Given the description of an element on the screen output the (x, y) to click on. 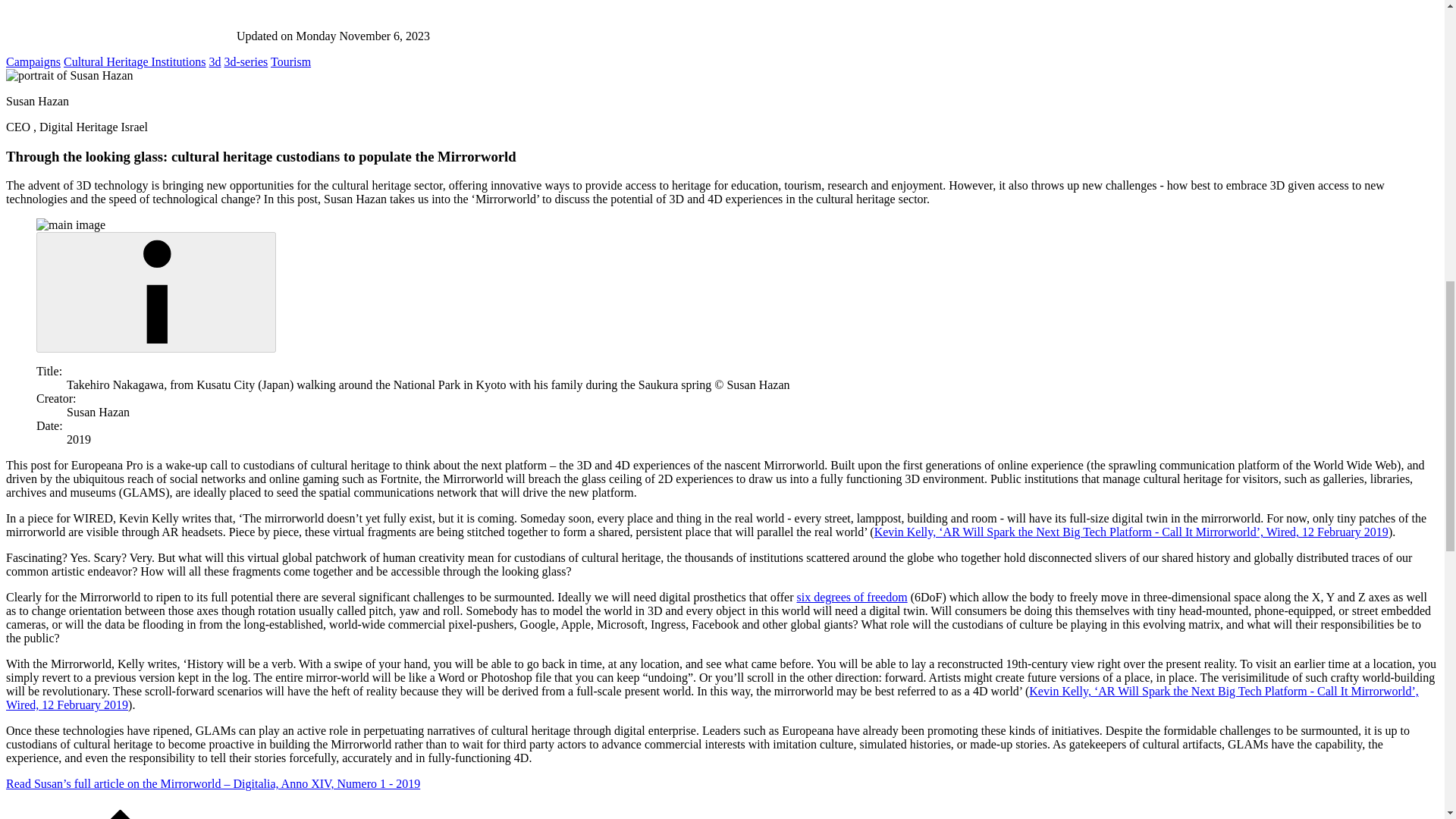
3d-series (245, 61)
six degrees of freedom (851, 596)
3d (215, 61)
Campaigns (33, 61)
Tourism (290, 61)
Cultural Heritage Institutions (135, 61)
